Given the description of an element on the screen output the (x, y) to click on. 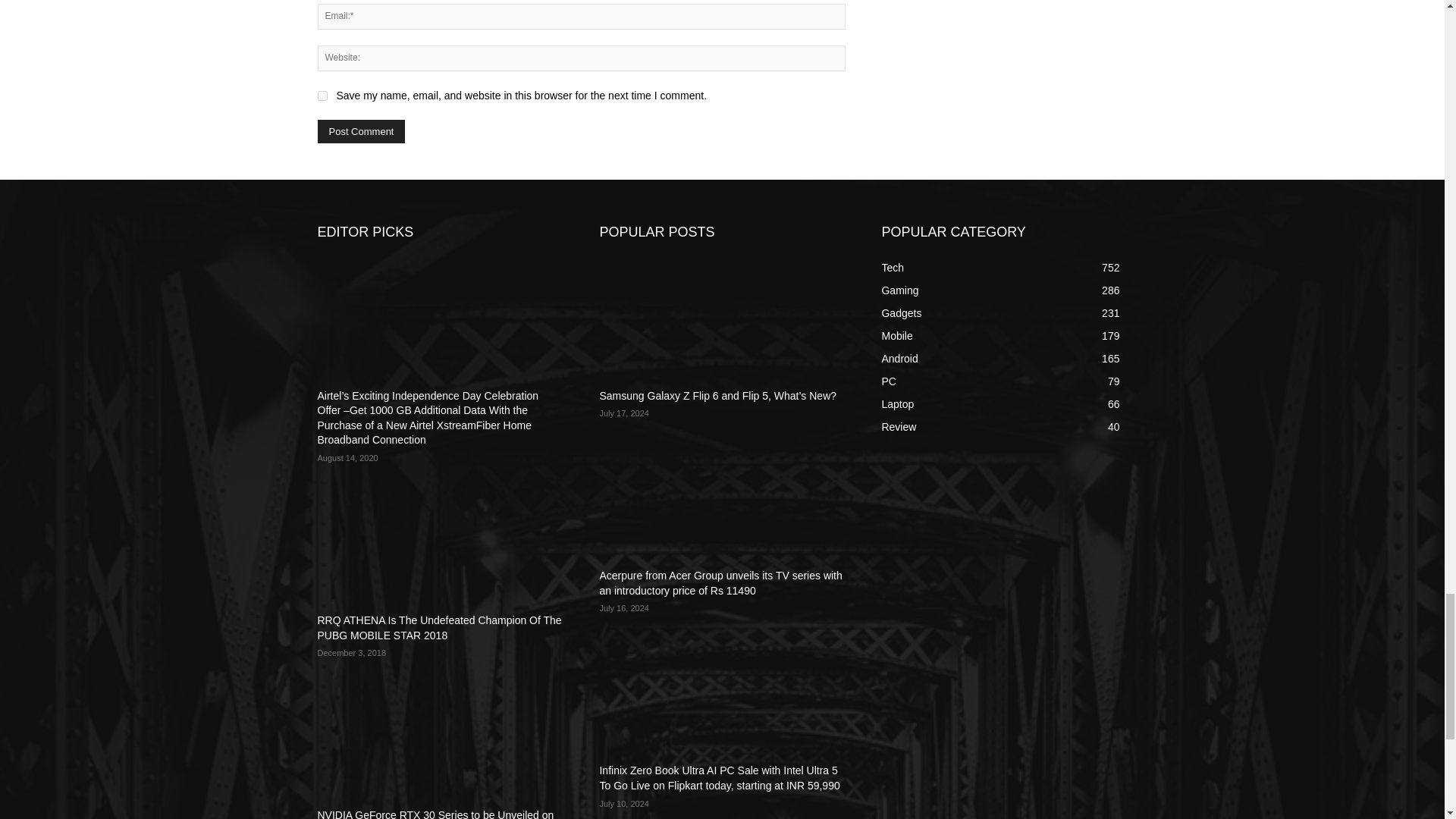
Post Comment (360, 131)
yes (321, 95)
